Given the description of an element on the screen output the (x, y) to click on. 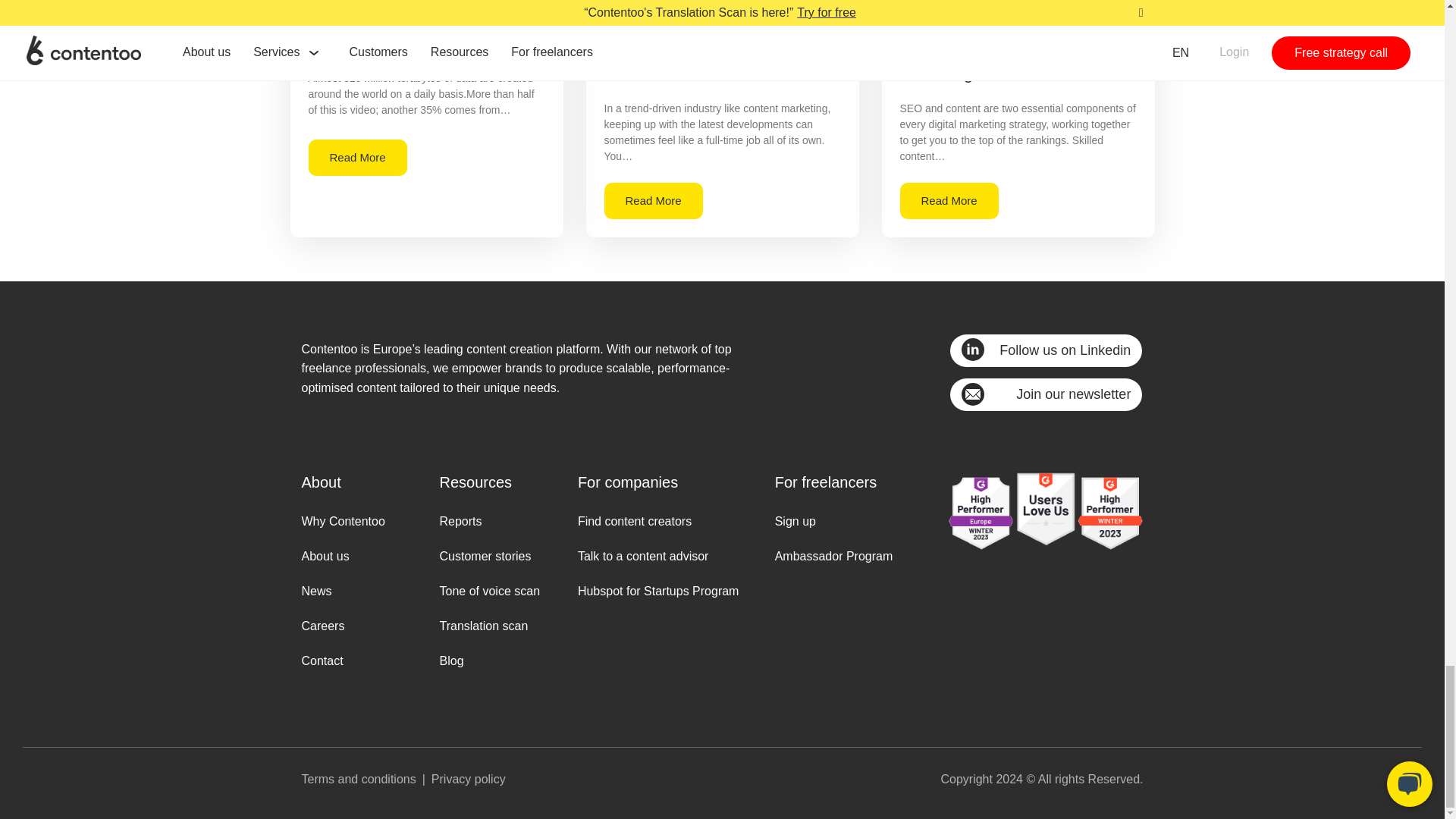
Read More (356, 157)
Read More (652, 200)
Read More (948, 200)
In content marketing, content quality still reigns supreme (414, 27)
